Given the description of an element on the screen output the (x, y) to click on. 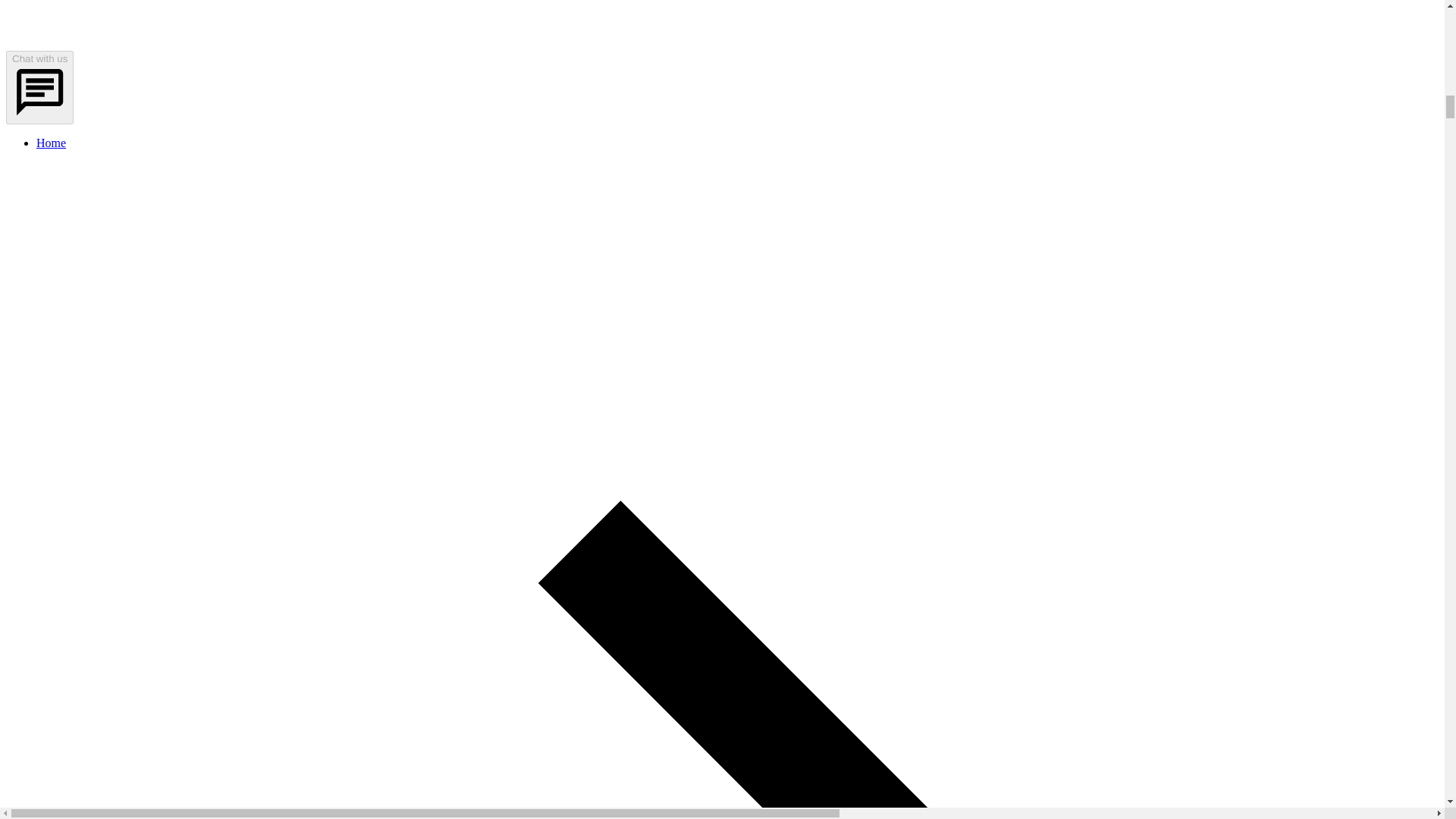
Contact us (721, 24)
Home (50, 142)
Chat with us (39, 87)
